Given the description of an element on the screen output the (x, y) to click on. 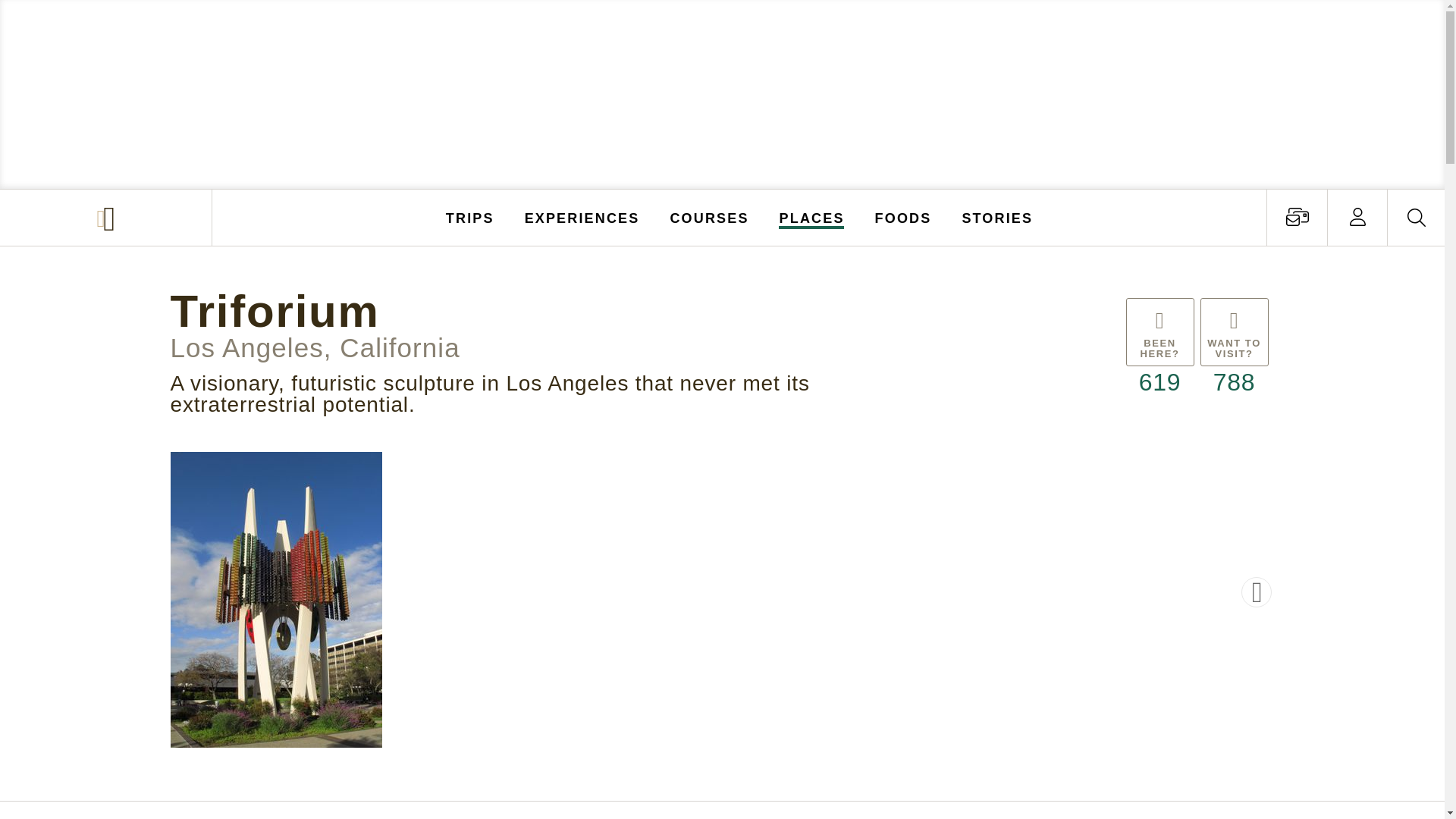
Atlas Obscura (107, 218)
PLACES (812, 217)
TRIPS (469, 217)
EXPERIENCES (582, 217)
COURSES (707, 217)
